Given the description of an element on the screen output the (x, y) to click on. 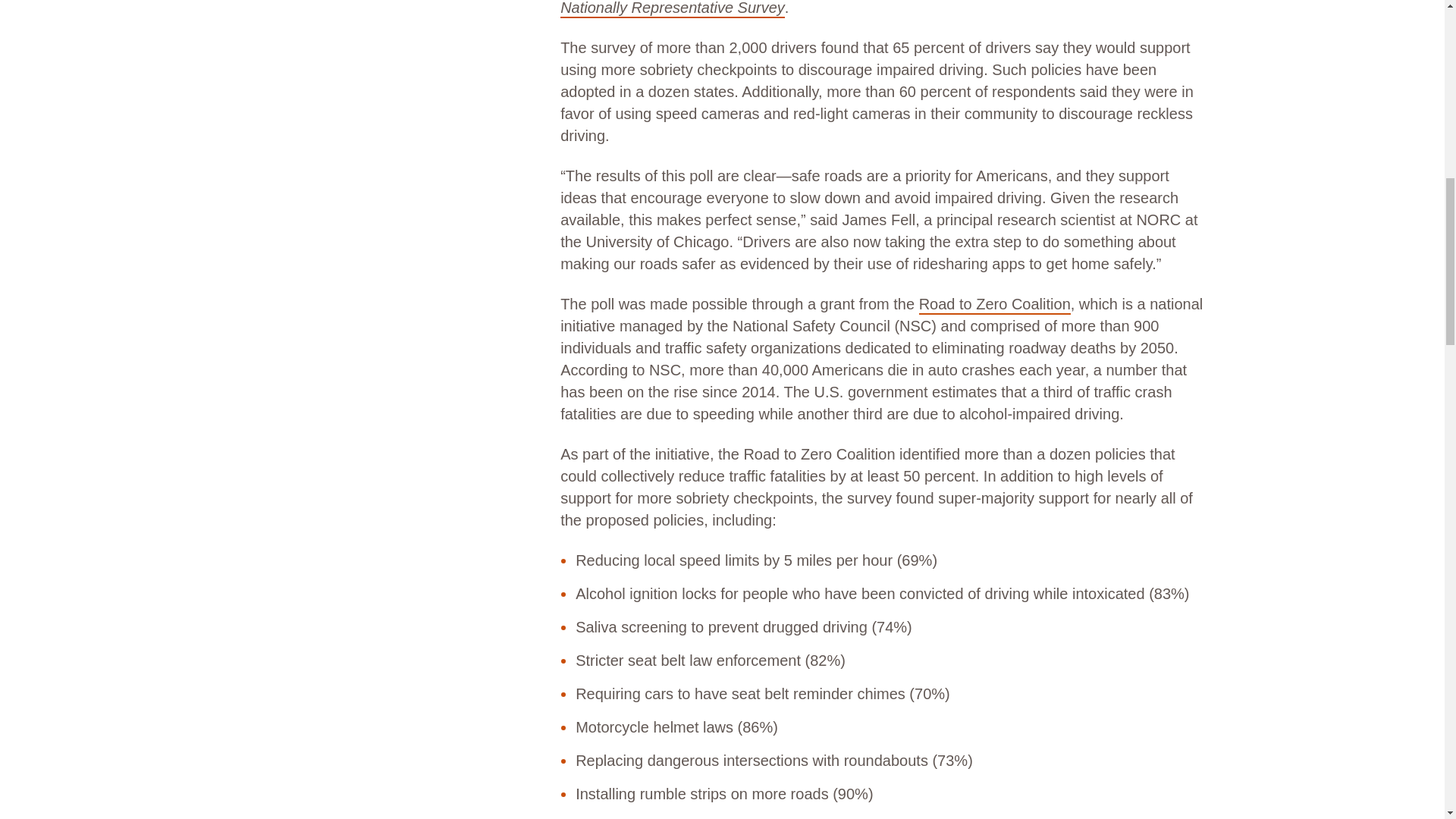
Road to Zero Coalition (994, 304)
